Given the description of an element on the screen output the (x, y) to click on. 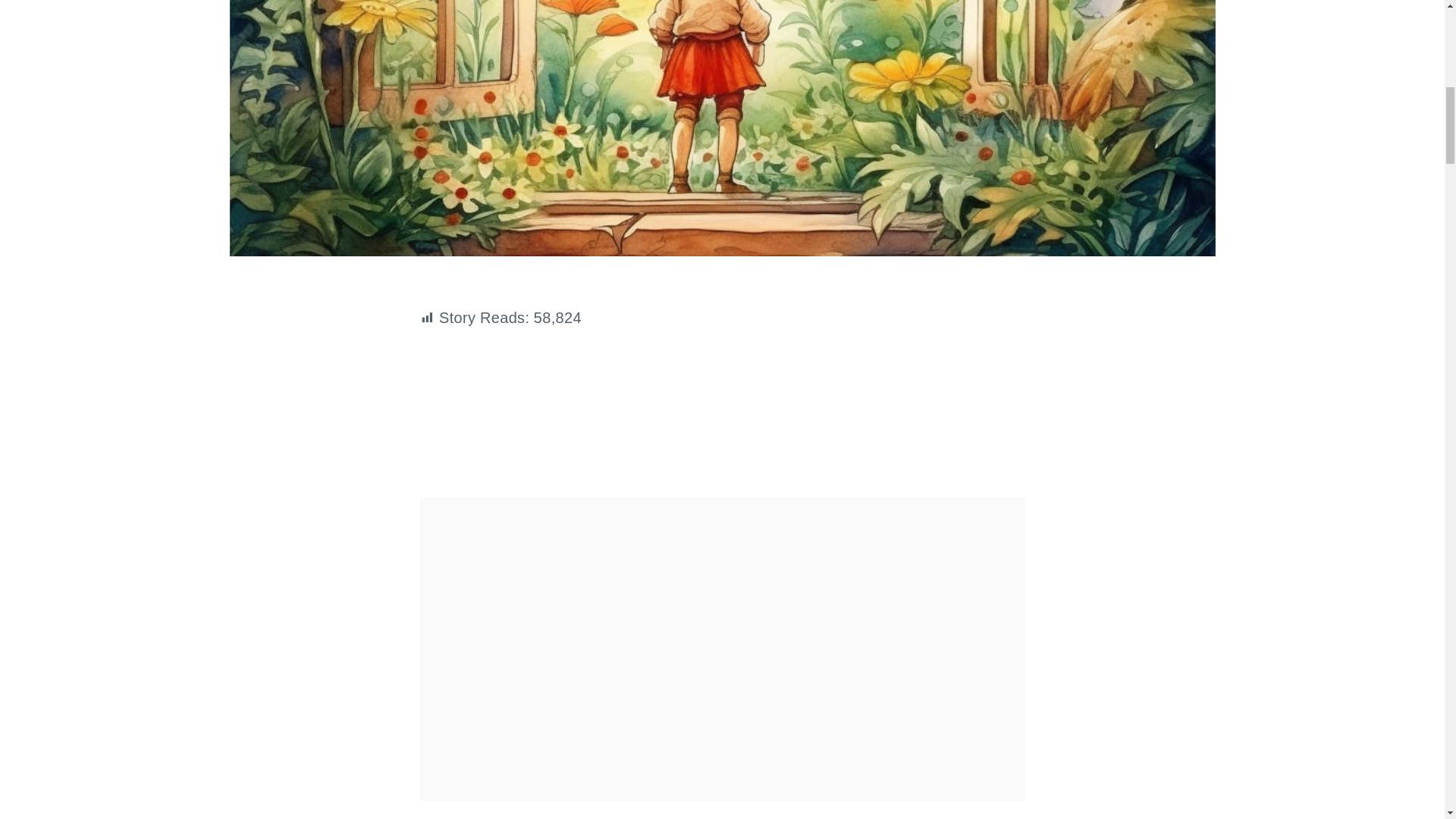
Fairy Tales - The Selfish Giant (722, 409)
